Given the description of an element on the screen output the (x, y) to click on. 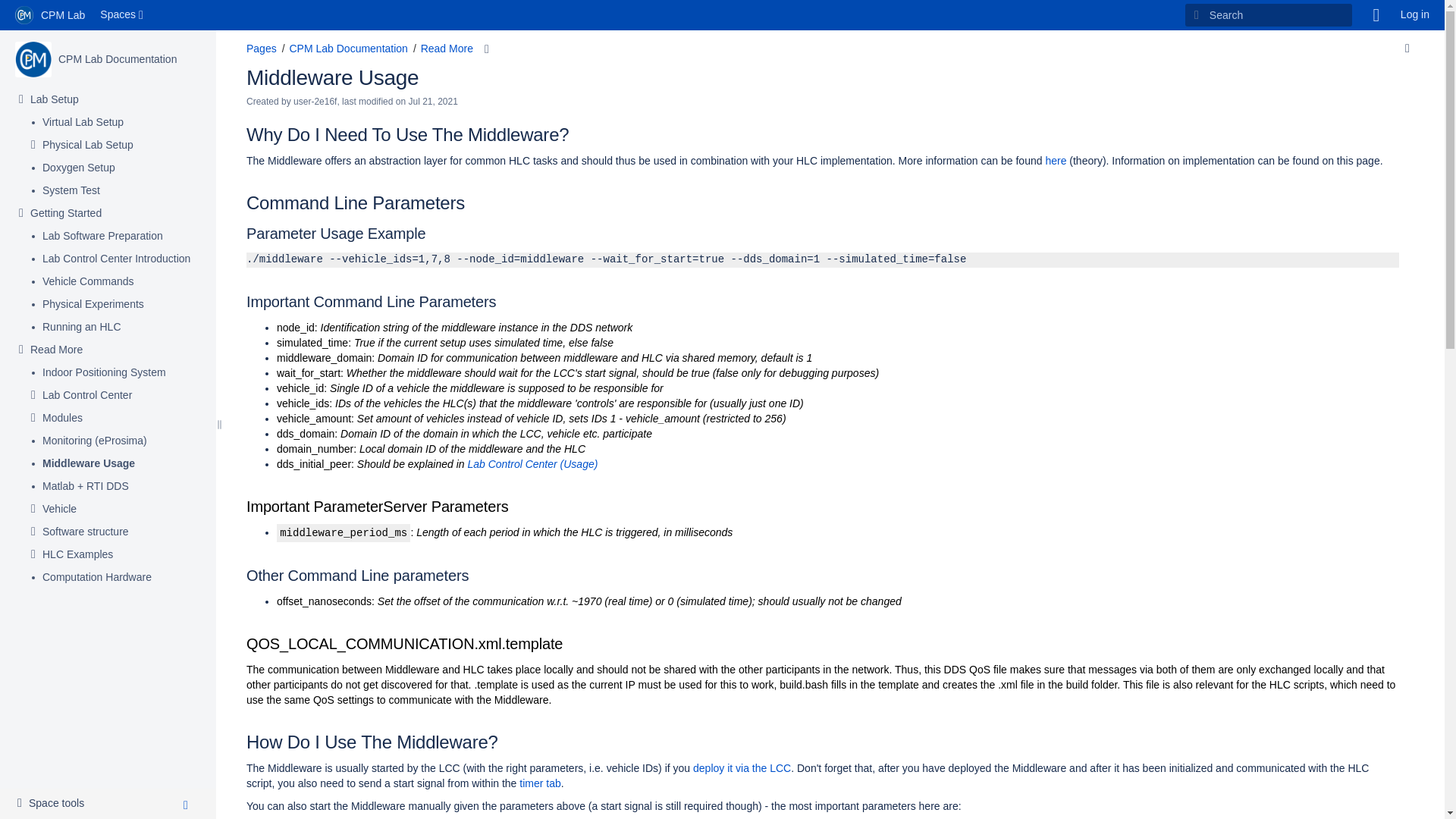
Indoor Positioning System (103, 372)
Lab Setup (54, 99)
CPM Lab Documentation (117, 59)
Read More (56, 350)
Physical Lab Setup (87, 145)
Spaces (123, 15)
Lab Software Preparation (102, 236)
Virtual Lab Setup (82, 122)
Running an HLC (81, 327)
Help (1376, 15)
